Given the description of an element on the screen output the (x, y) to click on. 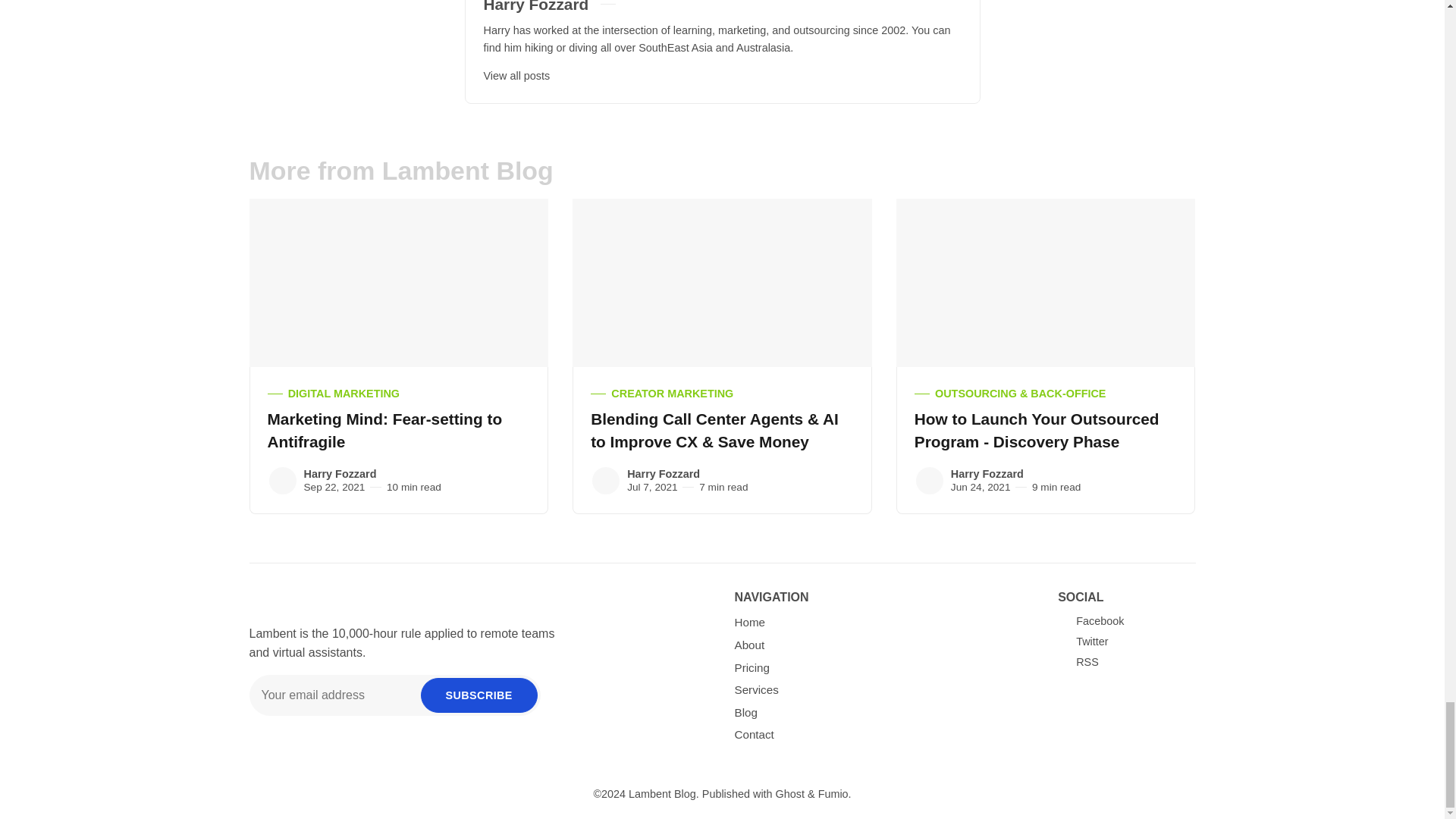
Harry Fozzard (281, 481)
Twitter (633, 5)
Harry Fozzard (536, 6)
Website (652, 5)
Harry Fozzard (929, 481)
Harry Fozzard (606, 481)
